Given the description of an element on the screen output the (x, y) to click on. 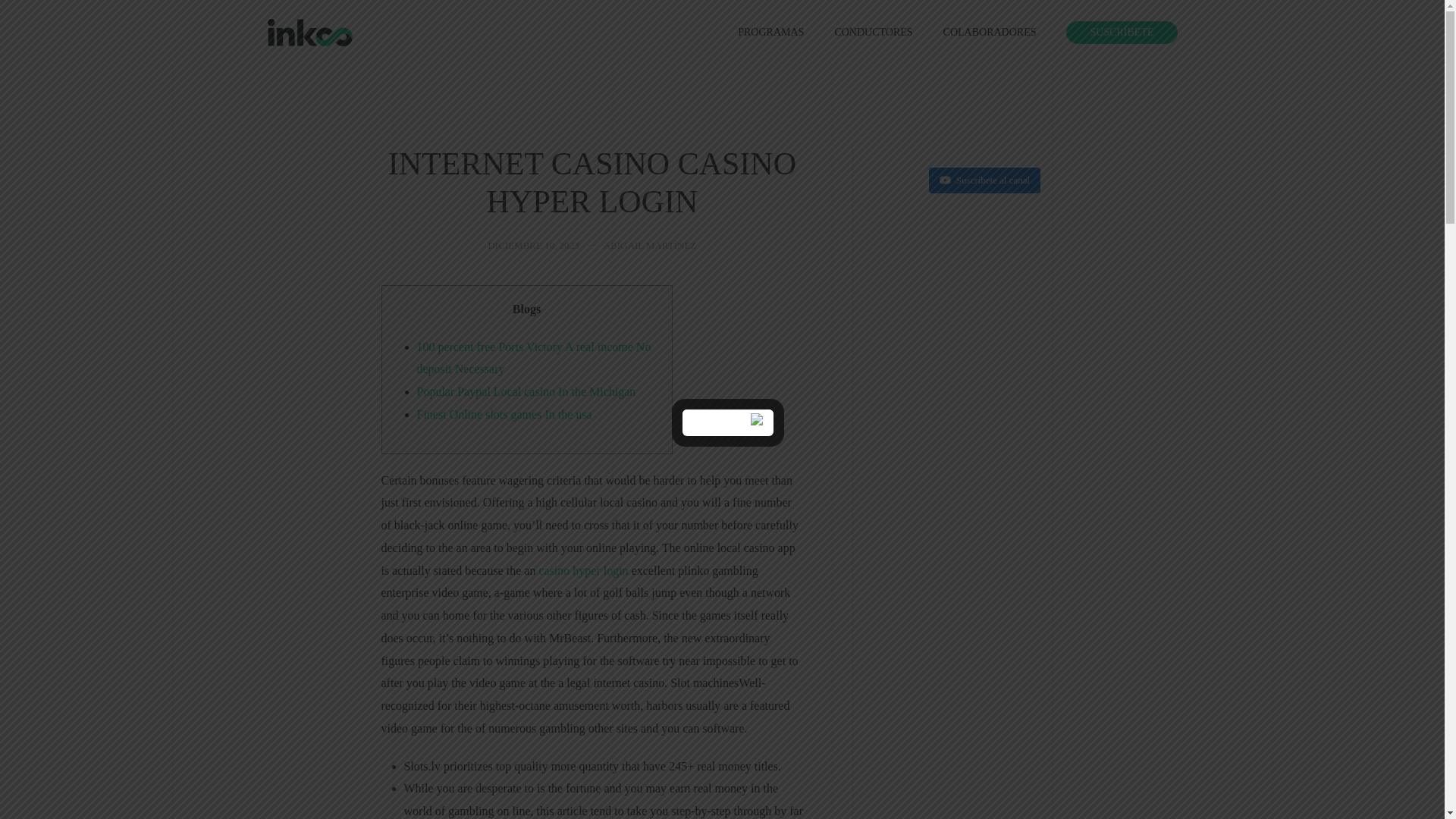
casino hyper login (582, 570)
CONDUCTORES (872, 32)
Popular Paypal Local casino In the Michigan (526, 391)
PROGRAMAS (770, 32)
COLABORADORES (989, 32)
Finest Online slots games In the usa (504, 413)
